Given the description of an element on the screen output the (x, y) to click on. 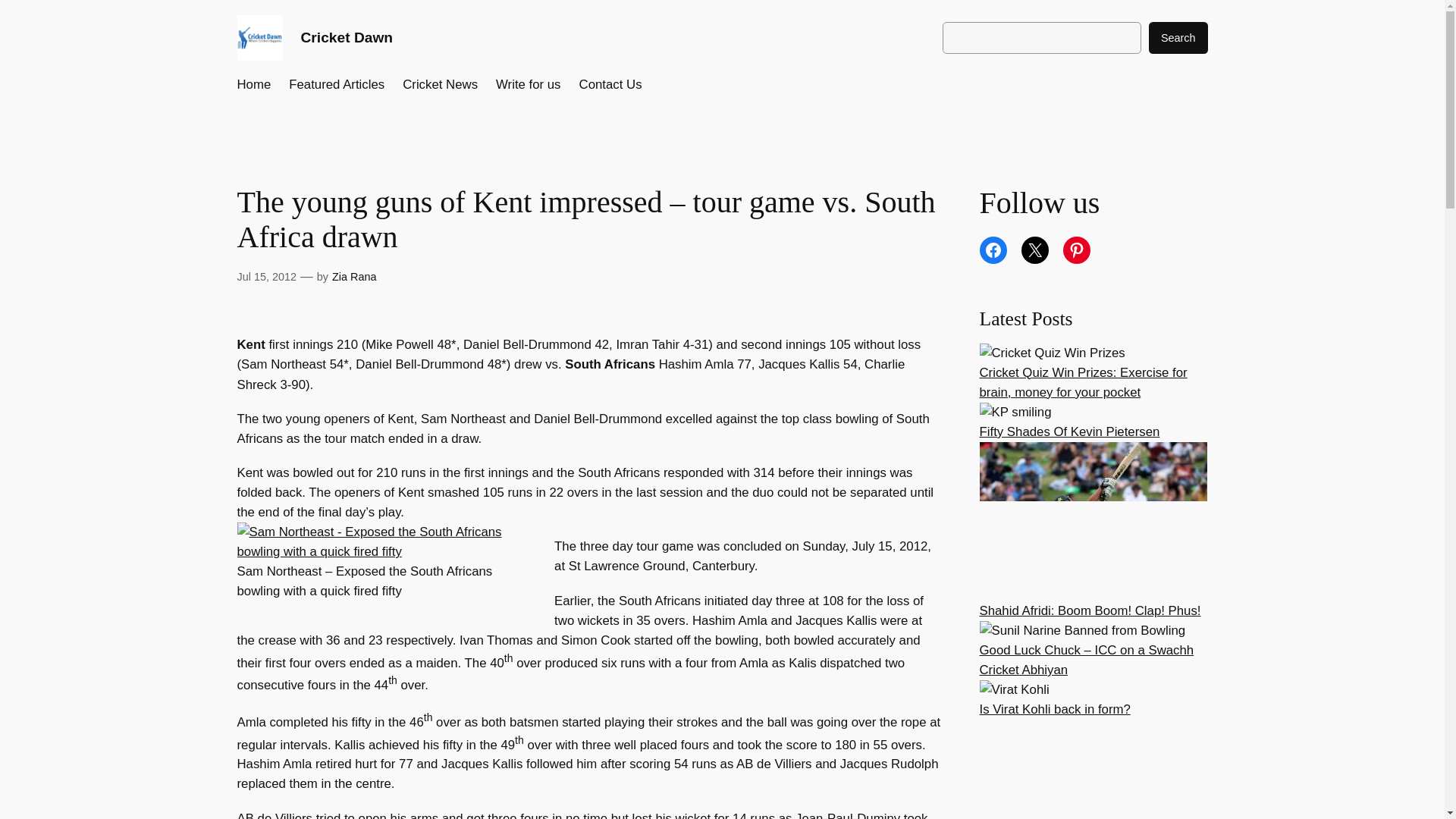
Is Virat Kohli back in form? (1055, 708)
Cricket Dawn (346, 37)
Fifty Shades Of Kevin Pietersen (1069, 431)
Featured Articles (336, 85)
Write for us (528, 85)
Contact Us (610, 85)
Pinterest (1076, 249)
Home (252, 85)
Cricket News (440, 85)
Jul 15, 2012 (265, 276)
Search (1178, 38)
Shahid Afridi: Boom Boom! Clap! Phus! (1090, 610)
Facebook (993, 249)
X (1035, 249)
